Given the description of an element on the screen output the (x, y) to click on. 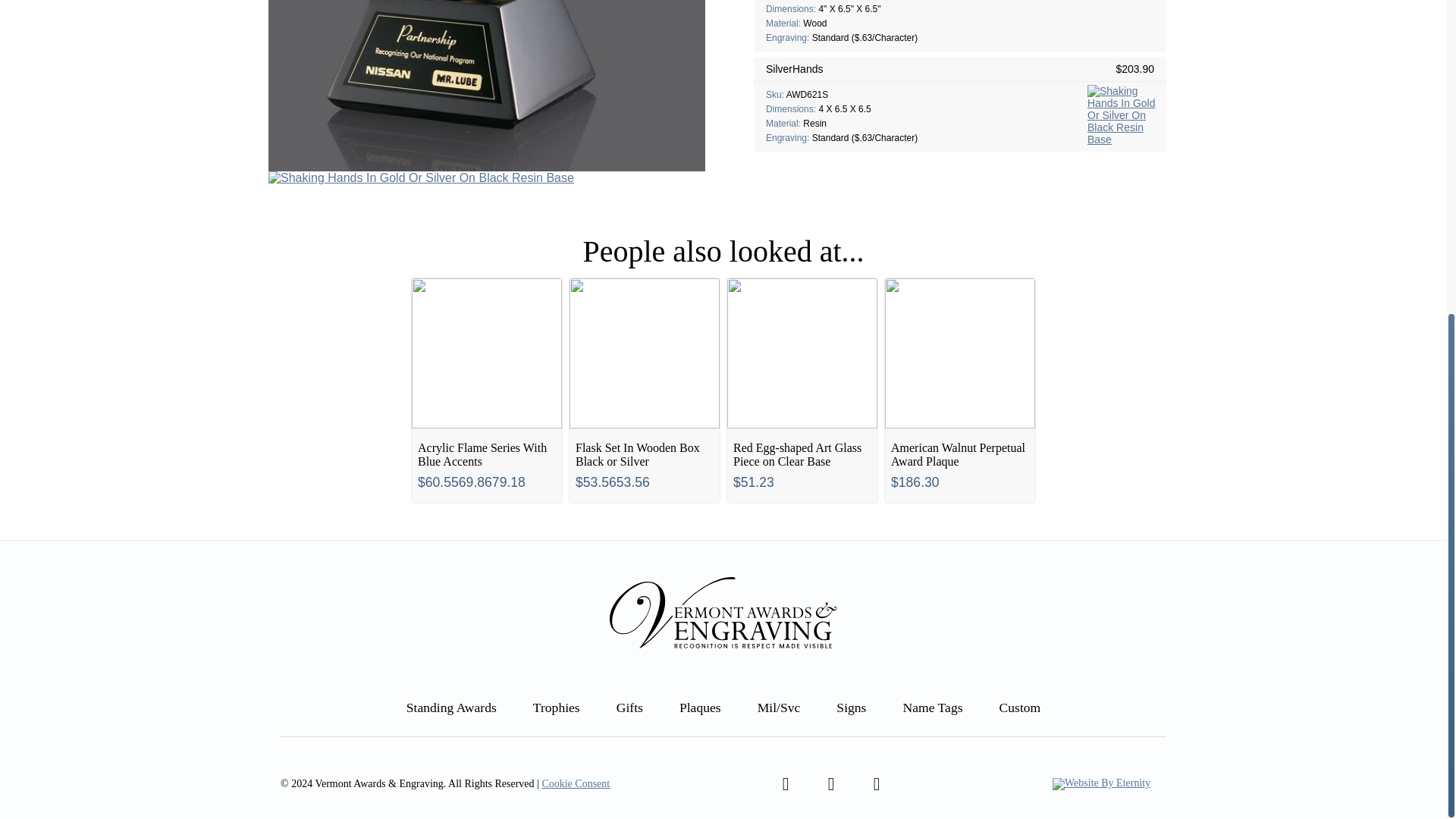
Follow us on Instagram (877, 783)
Follow us on Twitter (830, 783)
Find us on Facebook (785, 783)
